Given the description of an element on the screen output the (x, y) to click on. 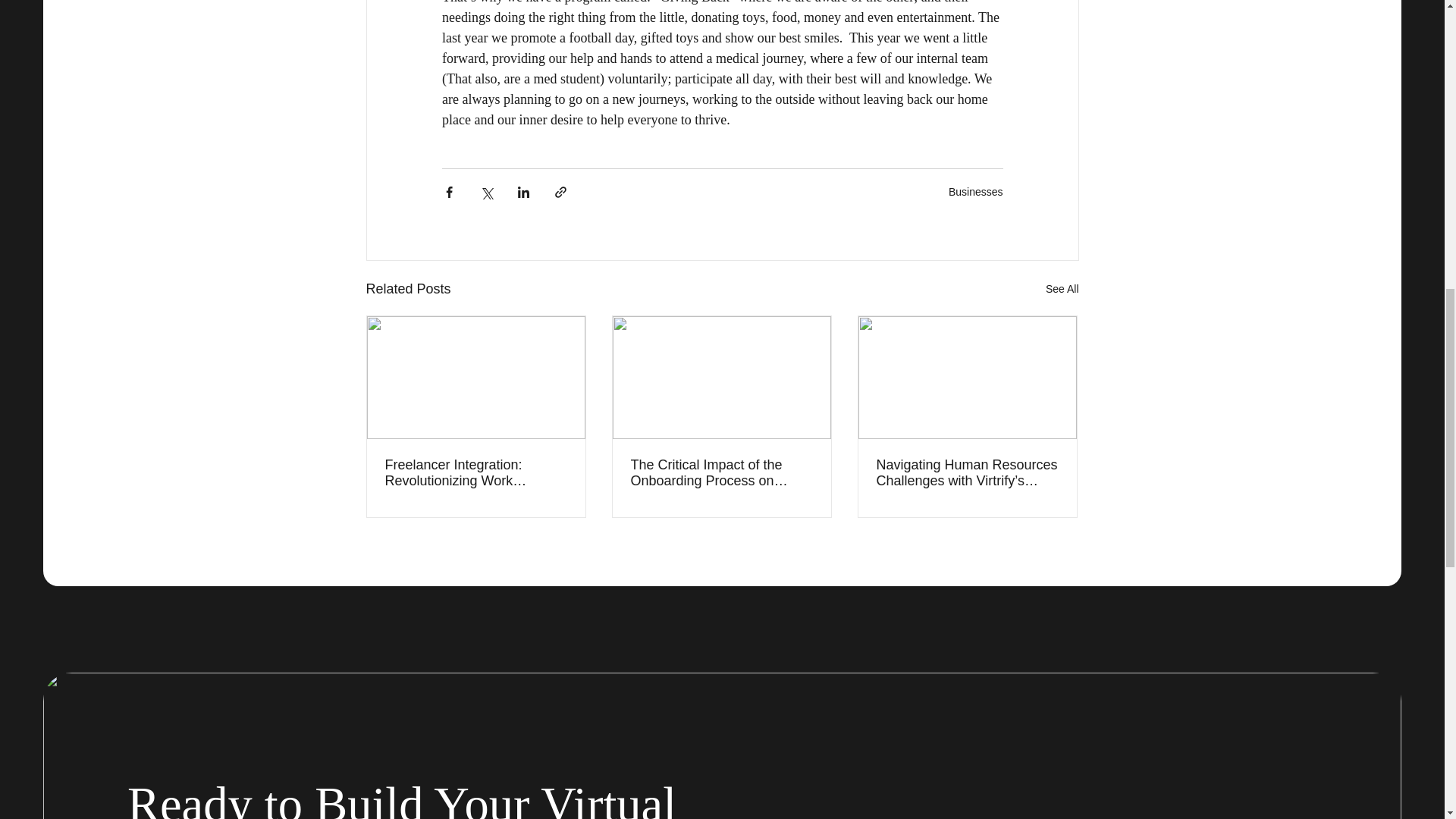
See All (1061, 289)
Businesses (976, 191)
